Given the description of an element on the screen output the (x, y) to click on. 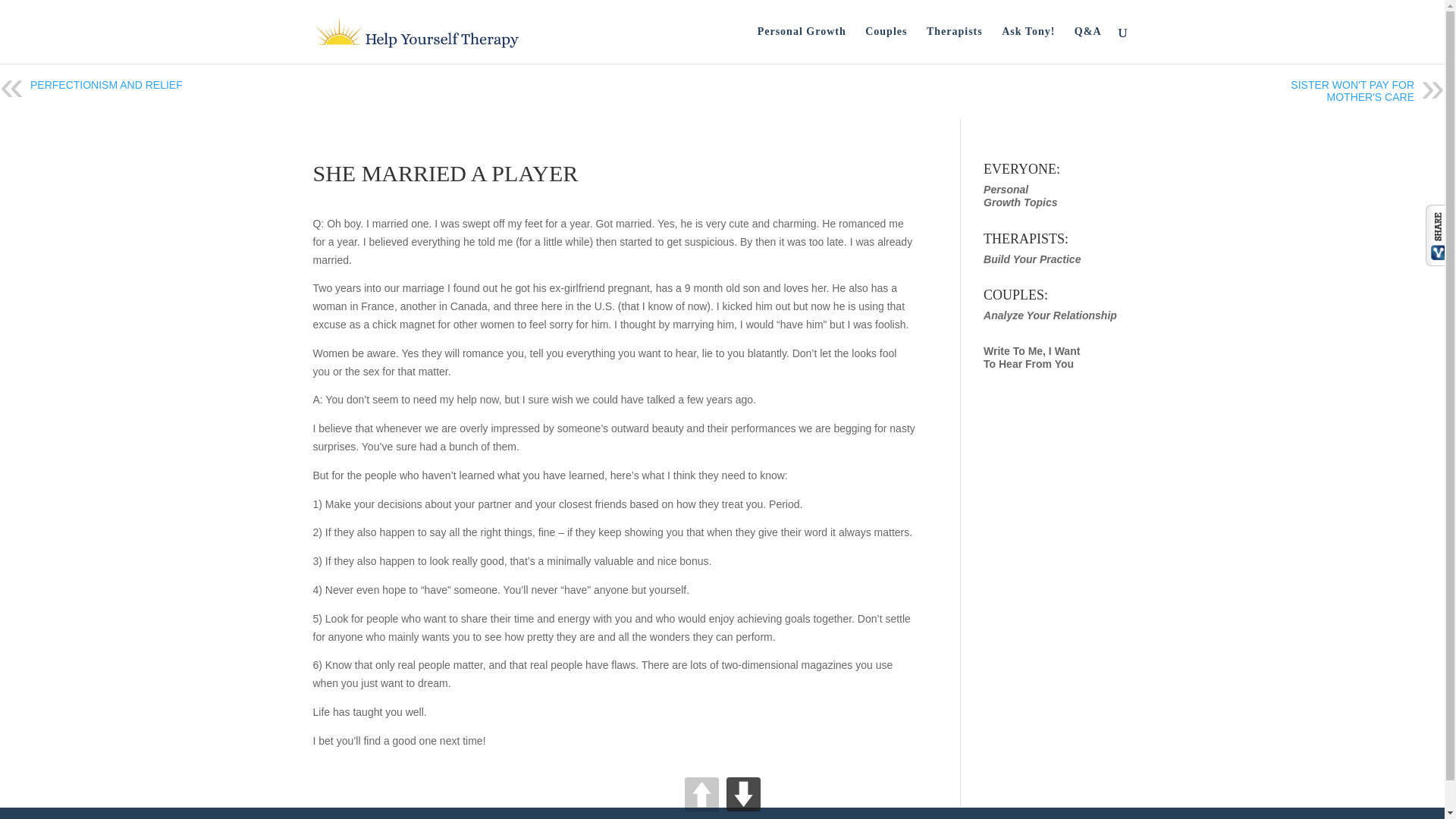
Build Your Practice (1032, 259)
SISTER WON'T PAY FOR MOTHER'S CARE (1351, 90)
UP (1020, 195)
Ask Tony! (700, 794)
Analyze Your Relationship (1027, 44)
Personal Growth (1032, 357)
DOWN (1050, 315)
PERFECTIONISM AND RELIEF (801, 44)
